Given the description of an element on the screen output the (x, y) to click on. 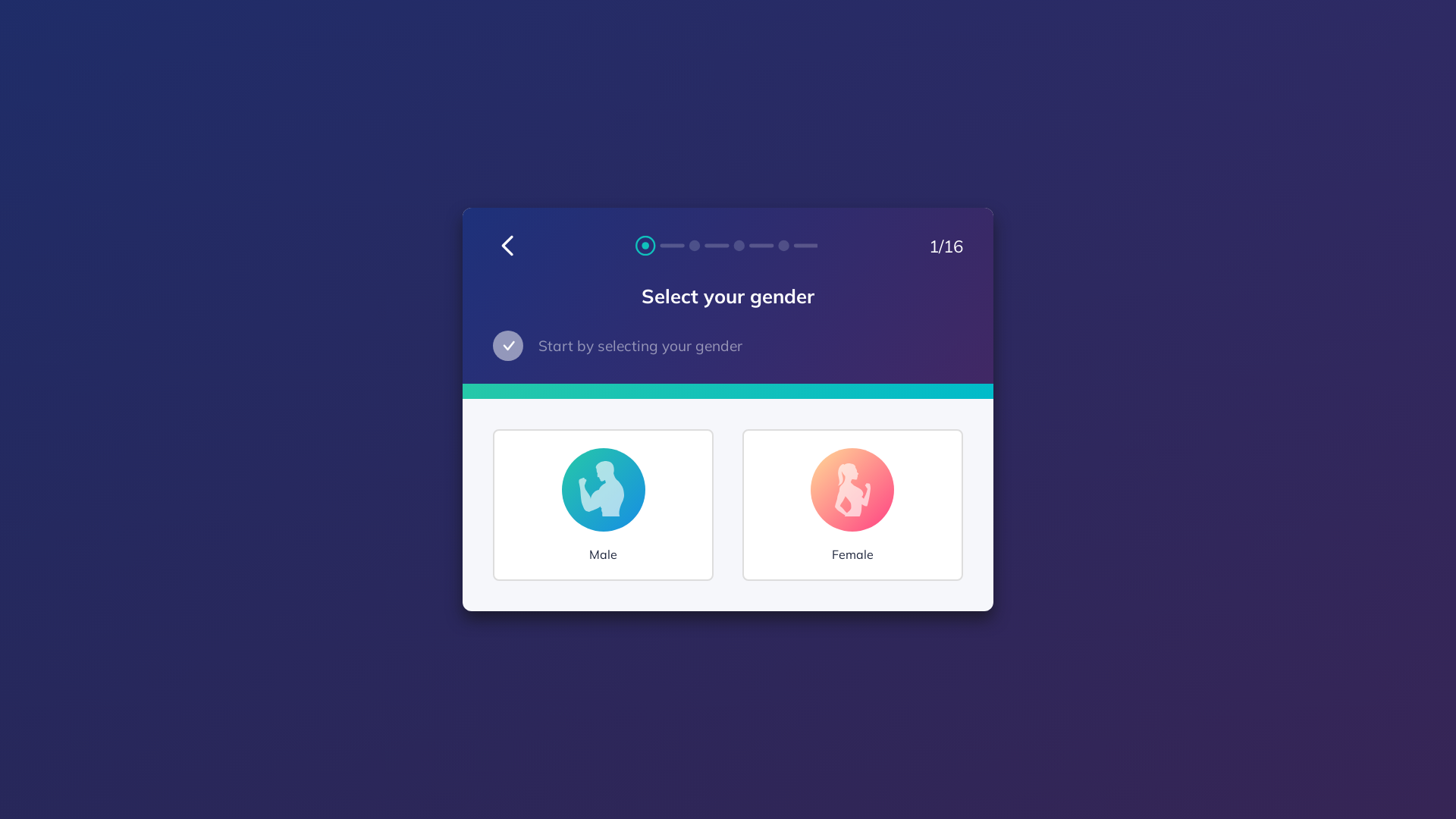
Female Element type: text (852, 504)
Male Element type: text (602, 504)
